Given the description of an element on the screen output the (x, y) to click on. 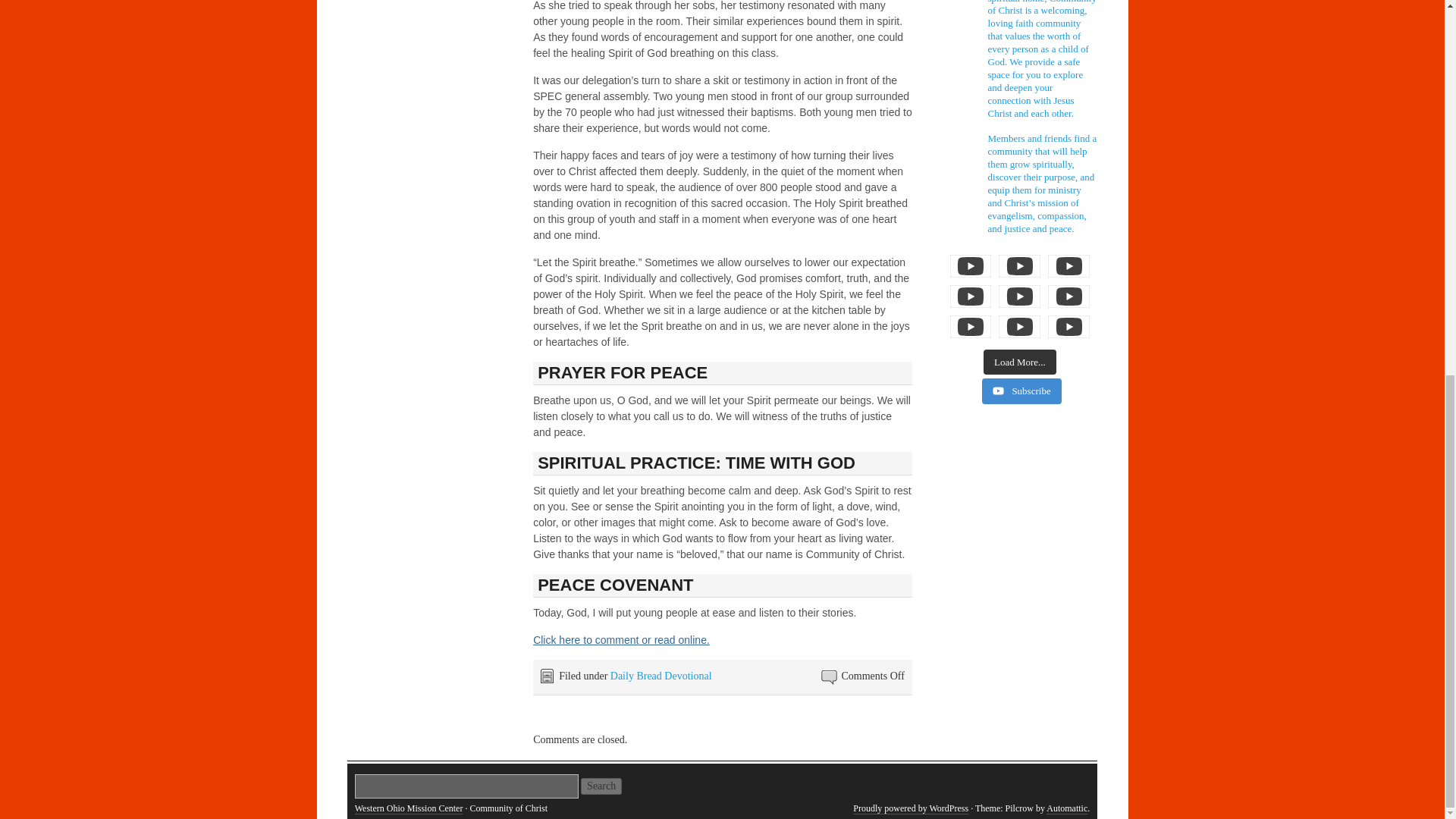
Search (600, 786)
Western Ohio Mission Center (409, 808)
Daily Bread Devotional (660, 675)
Click here to comment or read online. (621, 639)
A Semantic Personal Publishing Platform (910, 808)
